Given the description of an element on the screen output the (x, y) to click on. 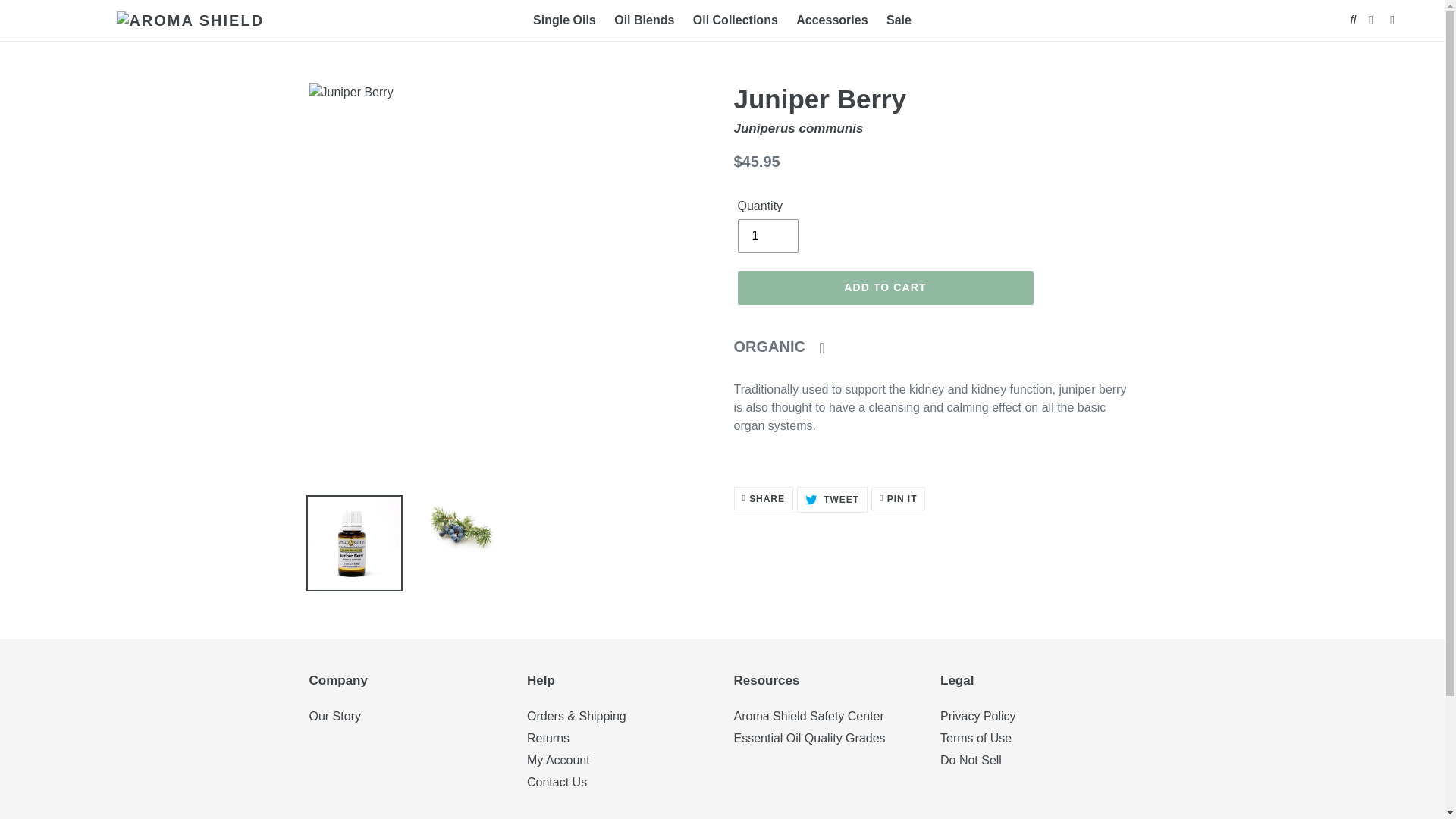
Sale (898, 20)
ADD TO CART (884, 287)
Contact Us (556, 781)
Terms of Use (975, 738)
Privacy Policy (978, 716)
Our Story (334, 716)
Aroma Shield Safety Center (831, 499)
Learn more about quality grades (808, 716)
1 (785, 346)
My Account (766, 235)
Single Oils (558, 759)
Oil Collections (564, 20)
